Given the description of an element on the screen output the (x, y) to click on. 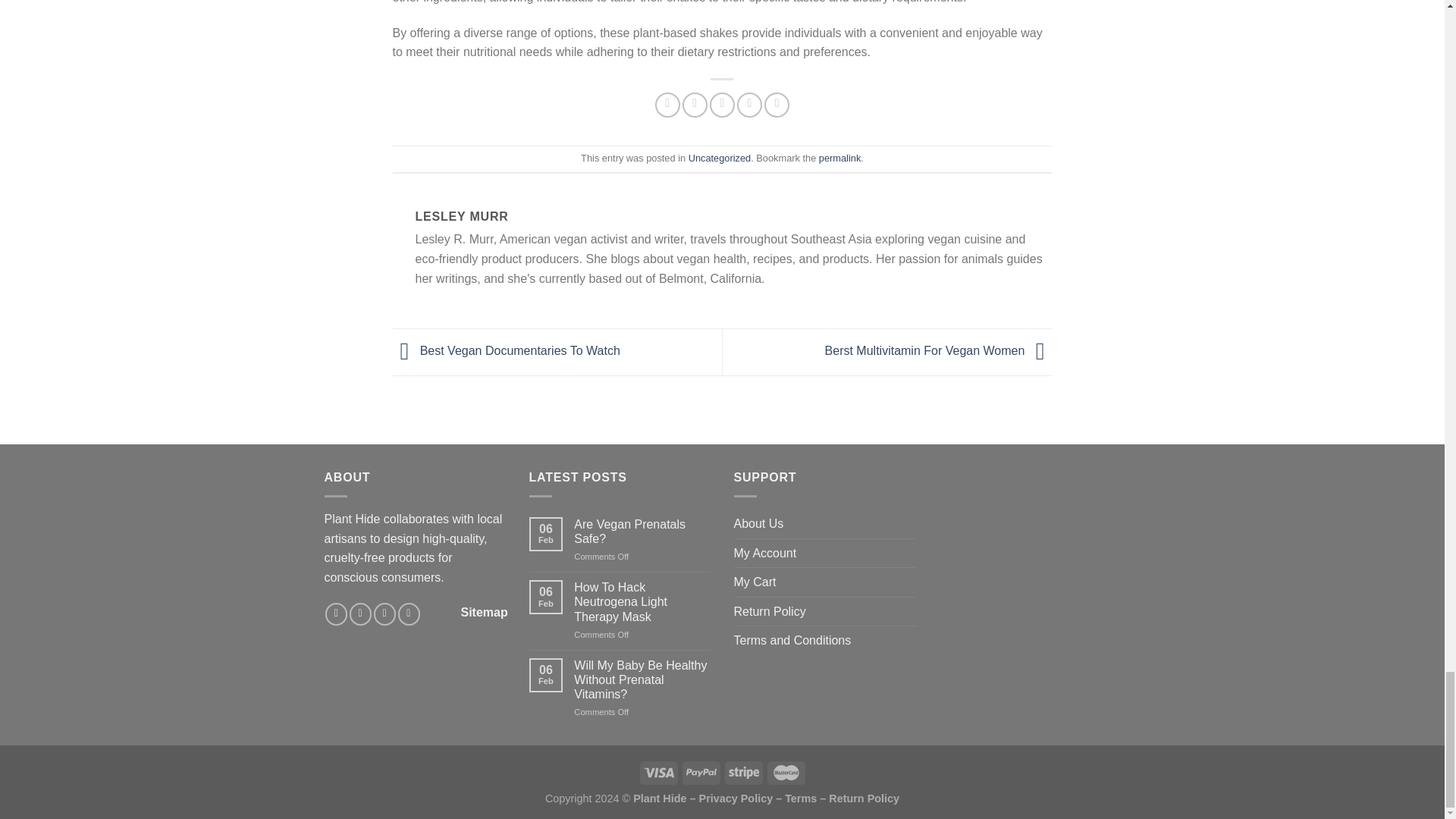
Are Vegan Prenatals Safe? (641, 531)
Permalink to Best Vegan Meal Replacement Shakes (839, 157)
Will My Baby Be Healthy Without Prenatal Vitamins? (641, 679)
Uncategorized (719, 157)
permalink (839, 157)
How To Hack Neutrogena Light Therapy Mask (641, 601)
